Given the description of an element on the screen output the (x, y) to click on. 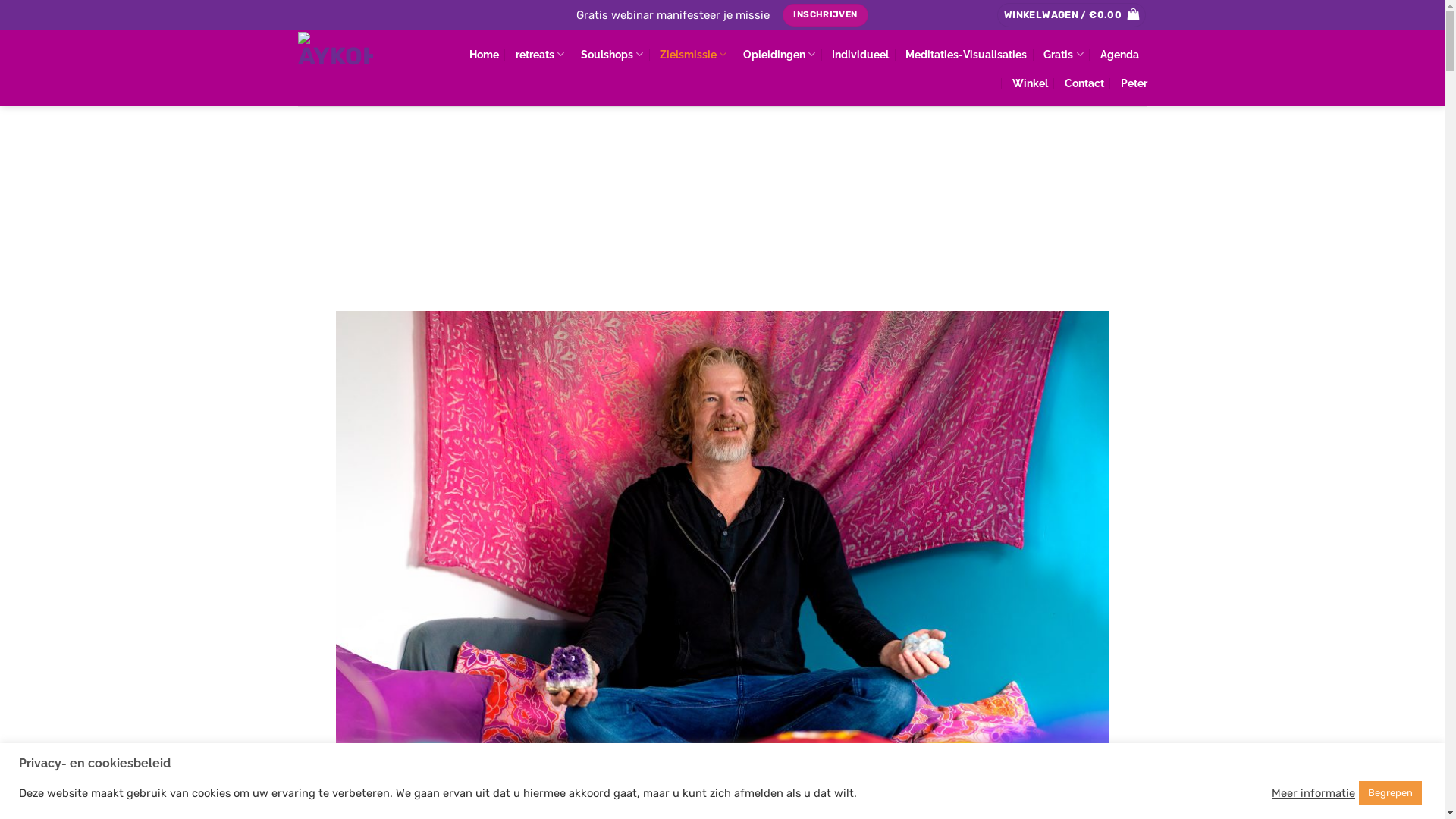
Zielsmissie Element type: text (692, 54)
Peter Element type: text (1133, 83)
retreats Element type: text (539, 54)
INSCHRIJVEN Element type: text (825, 14)
Home Element type: text (305, 196)
Gratis Element type: text (1062, 54)
/ Aanbod Element type: text (350, 196)
Soulshops Element type: text (611, 54)
Home Element type: text (483, 54)
aykohuis - Zijns- & Wordingshuis Element type: hover (361, 68)
Meer informatie Element type: text (1313, 792)
Agenda Element type: text (1118, 54)
Winkel Element type: text (1029, 83)
Individueel Element type: text (859, 54)
Begrepen Element type: text (1389, 792)
Opleidingen Element type: text (779, 54)
Contact Element type: text (1084, 83)
Meditaties-Visualisaties Element type: text (965, 54)
